Given the description of an element on the screen output the (x, y) to click on. 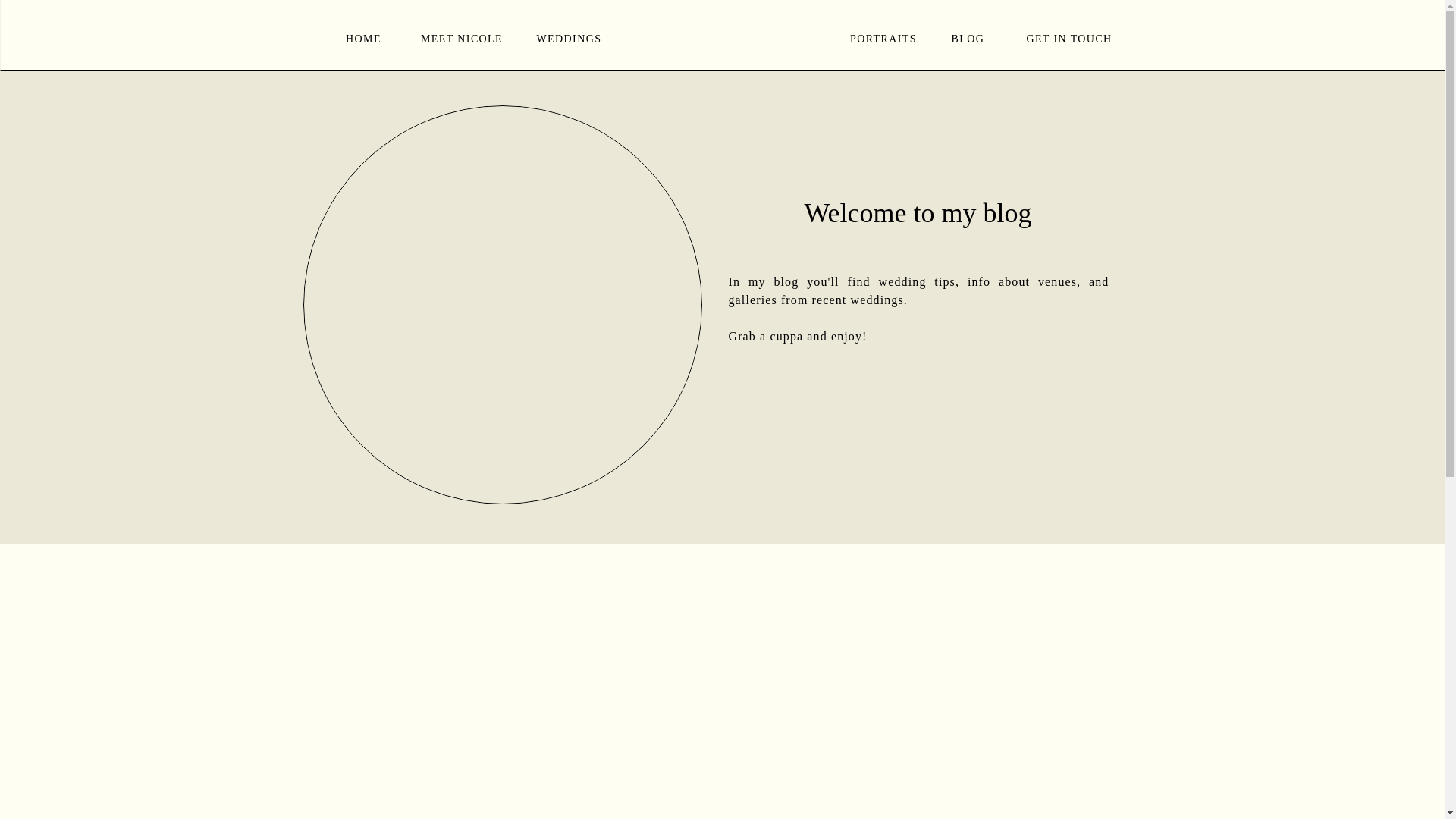
PORTRAITS (883, 37)
GET IN TOUCH (1069, 37)
MEET NICOLE (461, 37)
BLOG (970, 37)
WEDDINGS (570, 38)
HOME (363, 37)
